Given the description of an element on the screen output the (x, y) to click on. 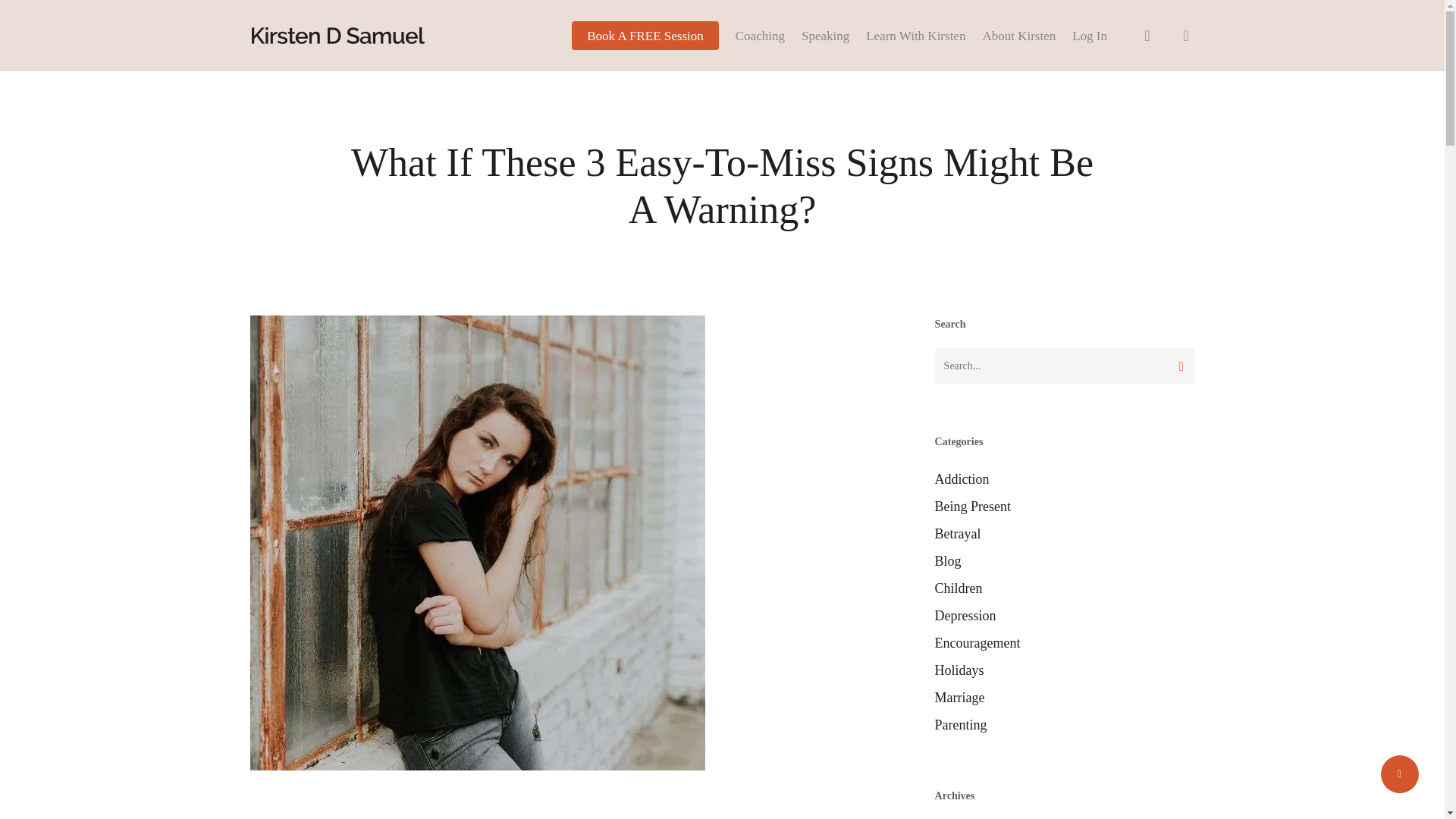
About Kirsten (1018, 34)
Speaking (825, 34)
Search for: (1063, 366)
search (1147, 35)
Coaching (759, 34)
Addiction (1063, 478)
Learn With Kirsten (915, 34)
Log In (1088, 34)
Book A FREE Session (645, 34)
